Given the description of an element on the screen output the (x, y) to click on. 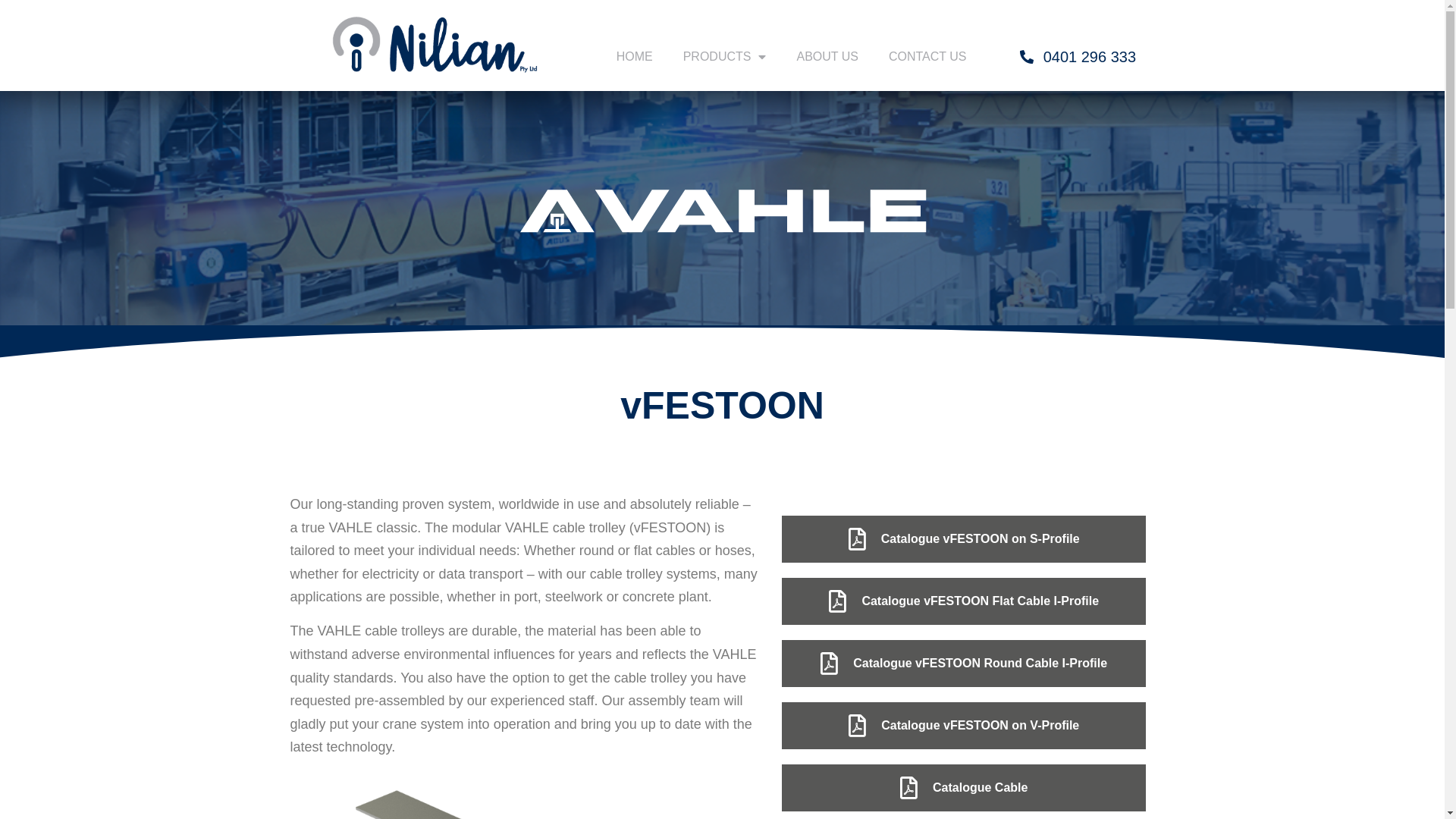
CONTACT US Element type: text (927, 56)
Catalogue vFESTOON on V-Profile Element type: text (963, 725)
Catalogue vFESTOON on S-Profile Element type: text (963, 538)
Catalogue Cable Element type: text (963, 787)
Catalogue vFESTOON Flat Cable I-Profile Element type: text (963, 600)
ABOUT US Element type: text (827, 56)
PRODUCTS Element type: text (724, 56)
Catalogue vFESTOON Round Cable I-Profile Element type: text (963, 663)
HOME Element type: text (634, 56)
